Given the description of an element on the screen output the (x, y) to click on. 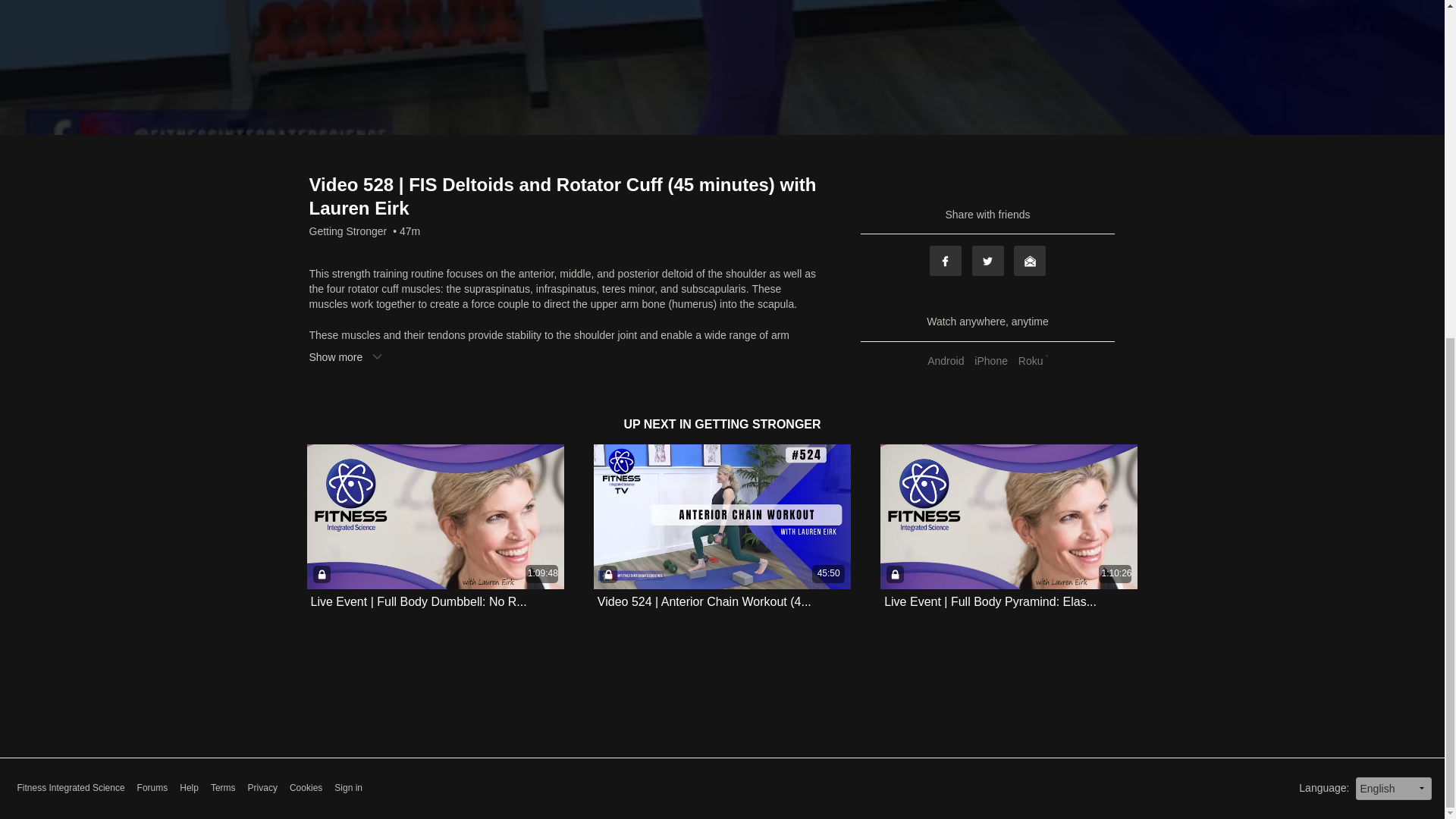
Twitter (988, 260)
Email (1029, 260)
iPhone (991, 360)
Android (945, 360)
45:50 (722, 516)
Forums (152, 788)
Getting Stronger (347, 231)
1:09:48 (434, 516)
Facebook (945, 260)
Fitness Integrated Science (69, 788)
GETTING STRONGER (757, 423)
Help (188, 788)
Terms (223, 788)
1:10:26 (1008, 516)
